Given the description of an element on the screen output the (x, y) to click on. 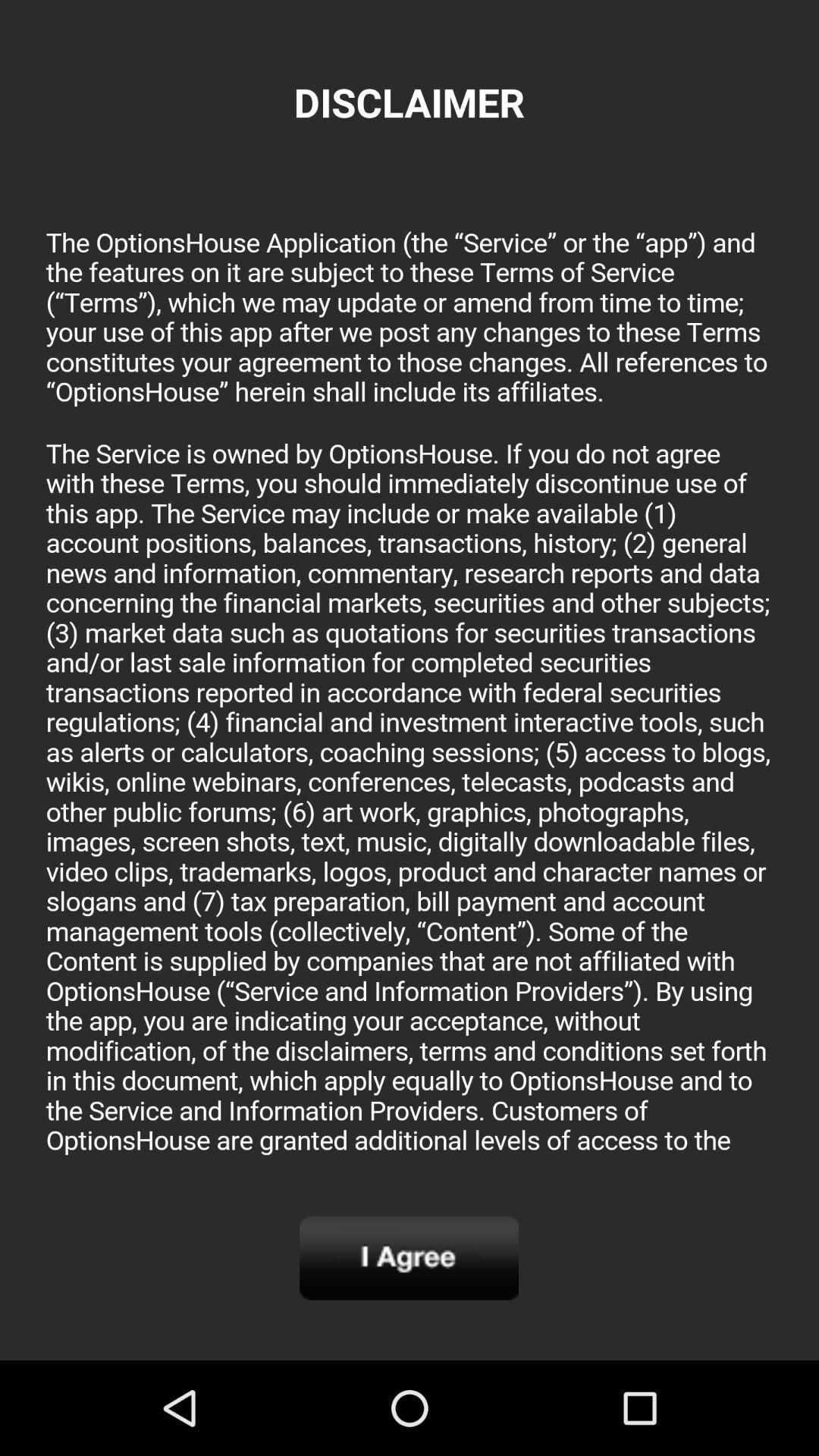
terms of service (409, 685)
